Given the description of an element on the screen output the (x, y) to click on. 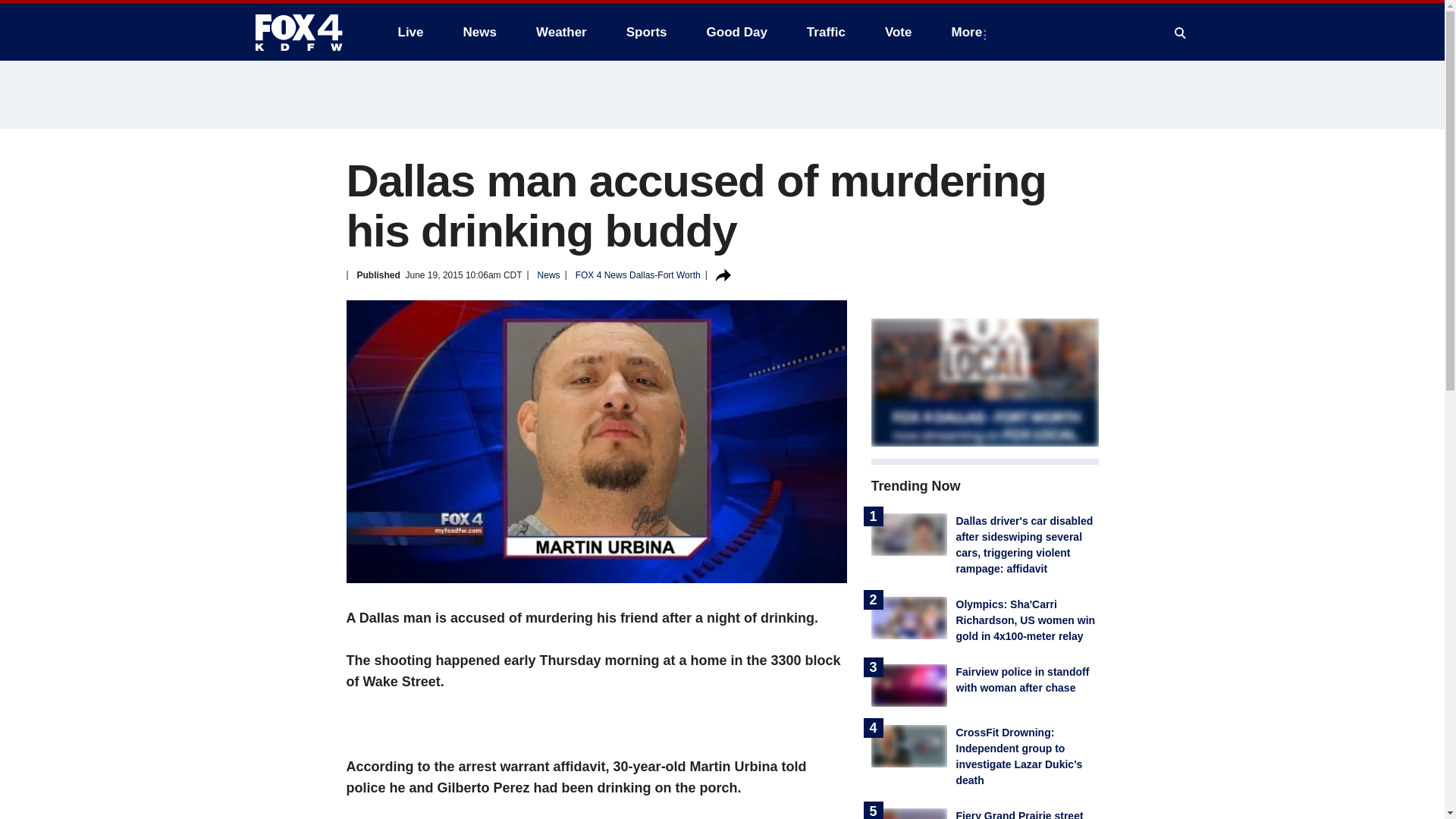
More (969, 32)
Weather (561, 32)
Good Day (736, 32)
Traffic (825, 32)
Sports (646, 32)
Live (410, 32)
News (479, 32)
Vote (898, 32)
